Given the description of an element on the screen output the (x, y) to click on. 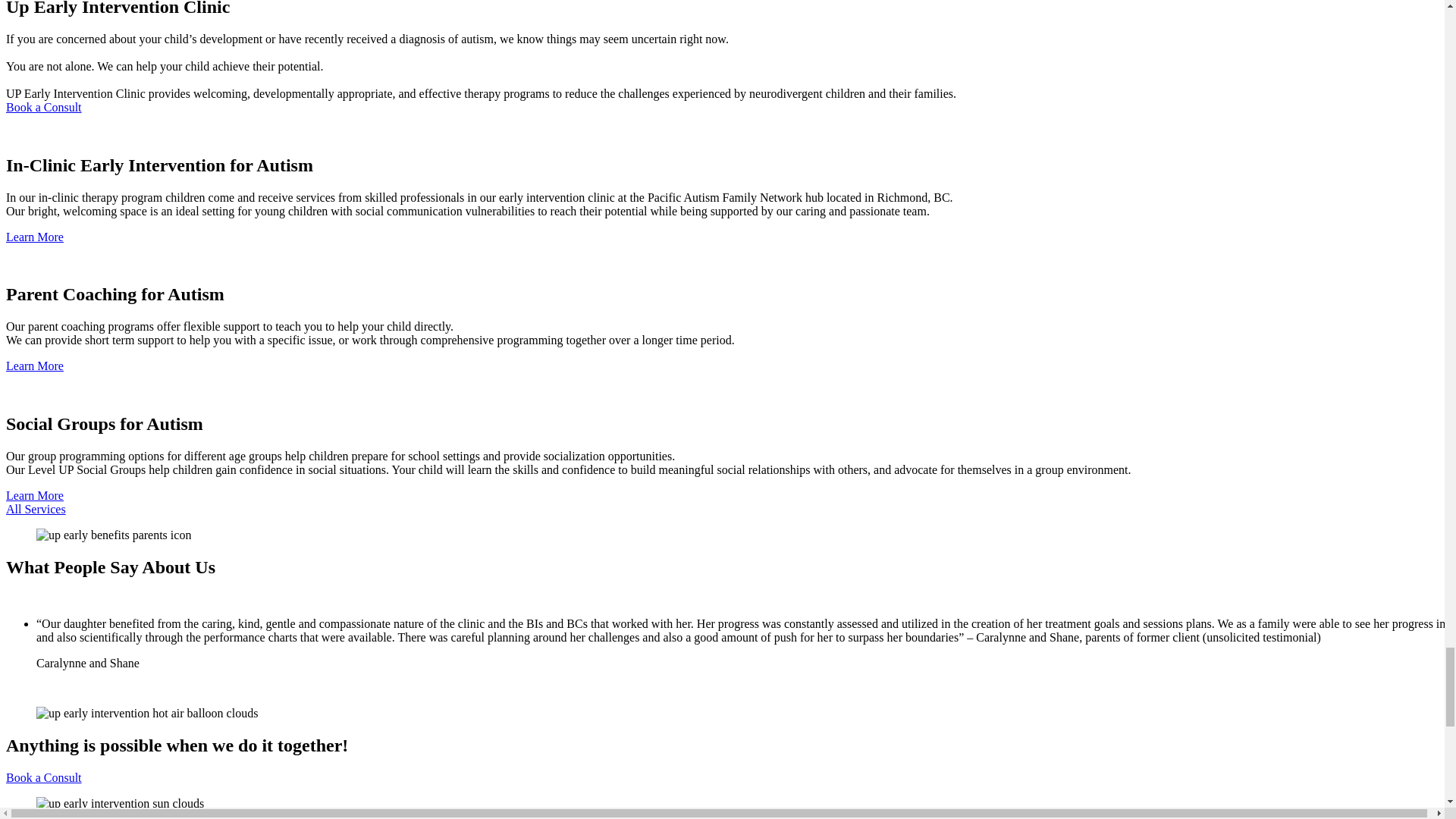
Book a Consult (43, 106)
Learn More (34, 236)
Learn More (34, 365)
